Given the description of an element on the screen output the (x, y) to click on. 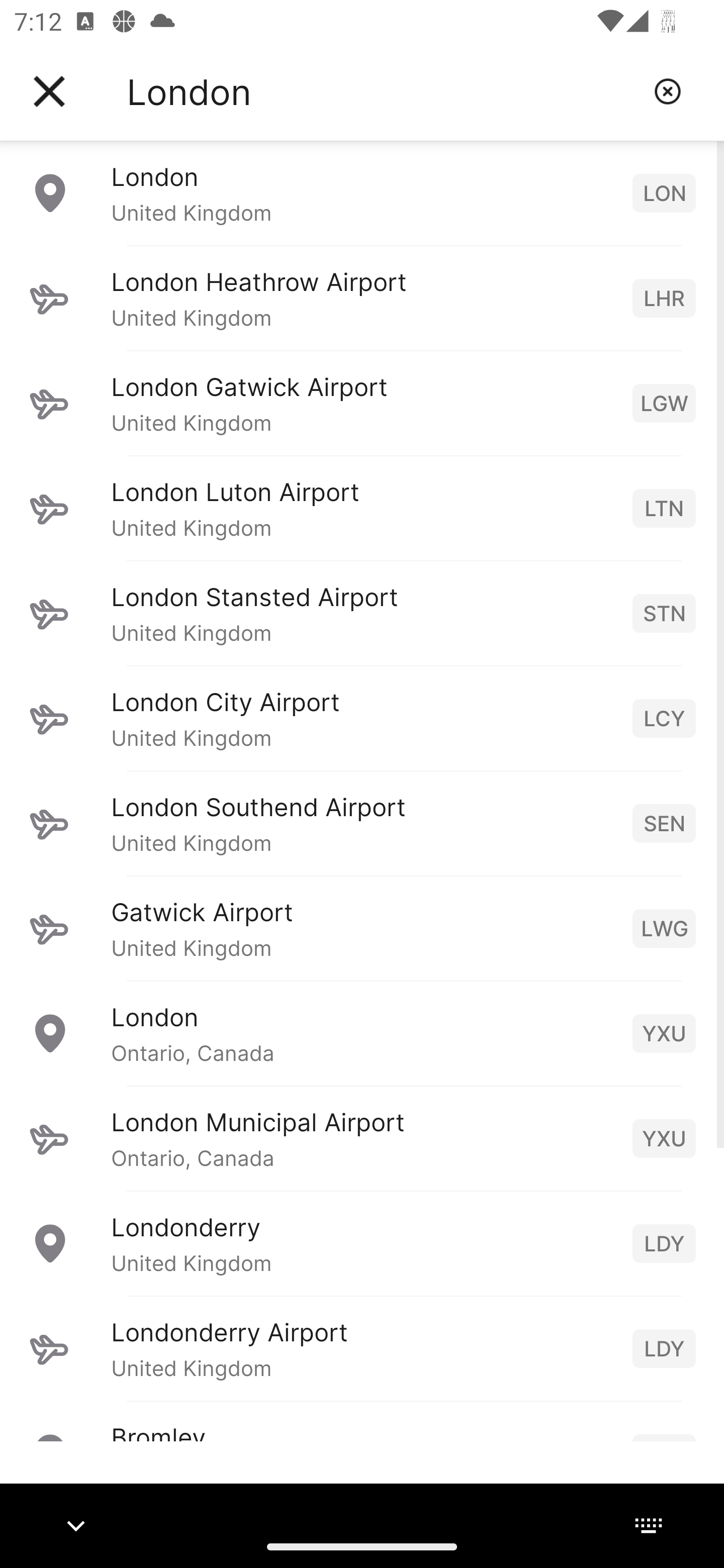
London (382, 91)
London United Kingdom LON (362, 192)
London Heathrow Airport United Kingdom LHR (362, 297)
London Gatwick Airport United Kingdom LGW (362, 402)
London Luton Airport United Kingdom LTN (362, 507)
London Stansted Airport United Kingdom STN (362, 612)
London City Airport United Kingdom LCY (362, 717)
London Southend Airport United Kingdom SEN (362, 822)
Gatwick Airport United Kingdom LWG (362, 928)
London Ontario, Canada YXU (362, 1033)
London Municipal Airport Ontario, Canada YXU (362, 1138)
Londonderry United Kingdom LDY (362, 1243)
Londonderry Airport United Kingdom LDY (362, 1348)
